Given the description of an element on the screen output the (x, y) to click on. 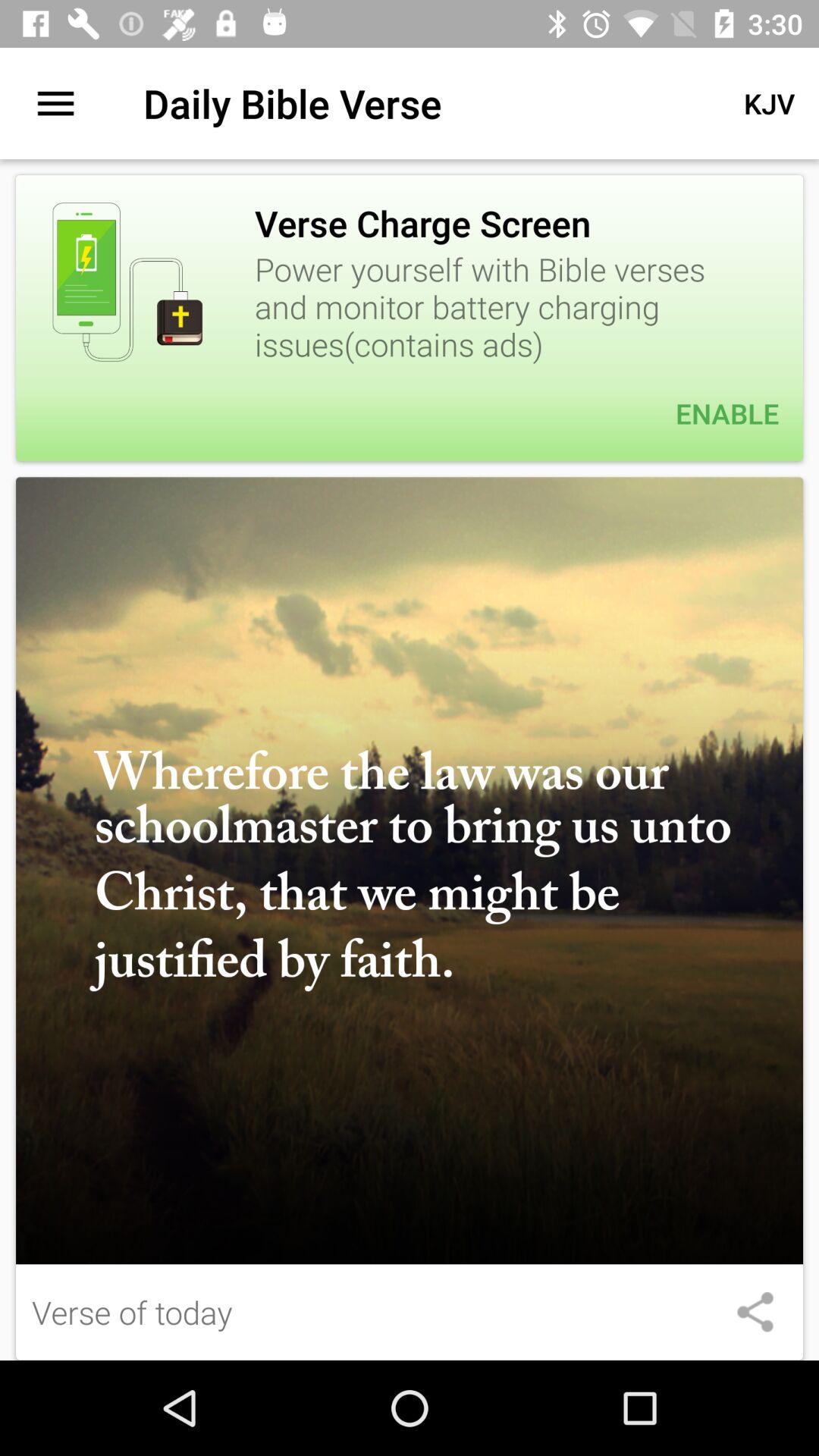
select item to the left of the daily bible verse (55, 103)
